Given the description of an element on the screen output the (x, y) to click on. 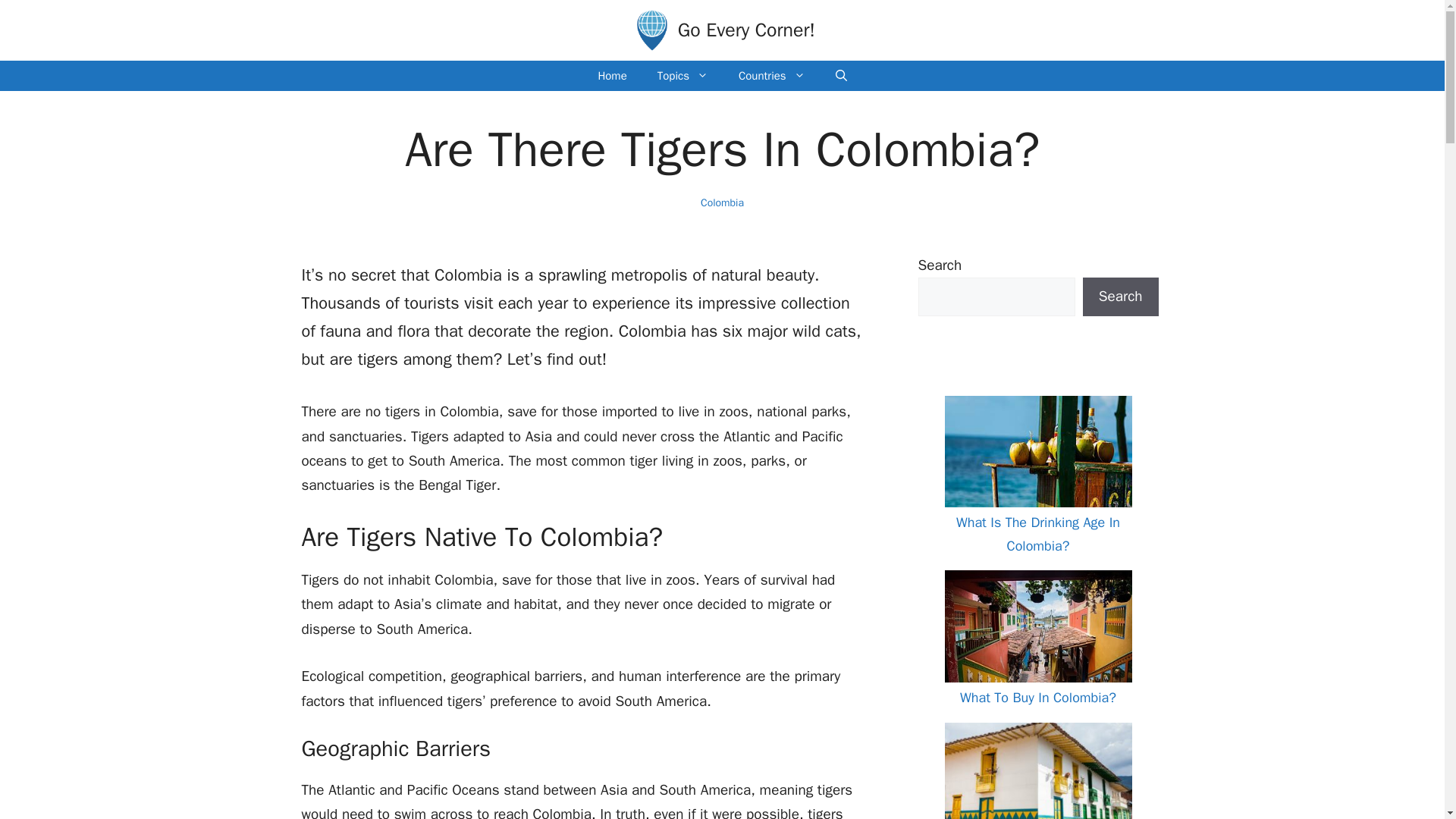
Home (612, 75)
Colombia (722, 202)
Countries (772, 75)
Topics (682, 75)
Go Every Corner! (746, 29)
